Given the description of an element on the screen output the (x, y) to click on. 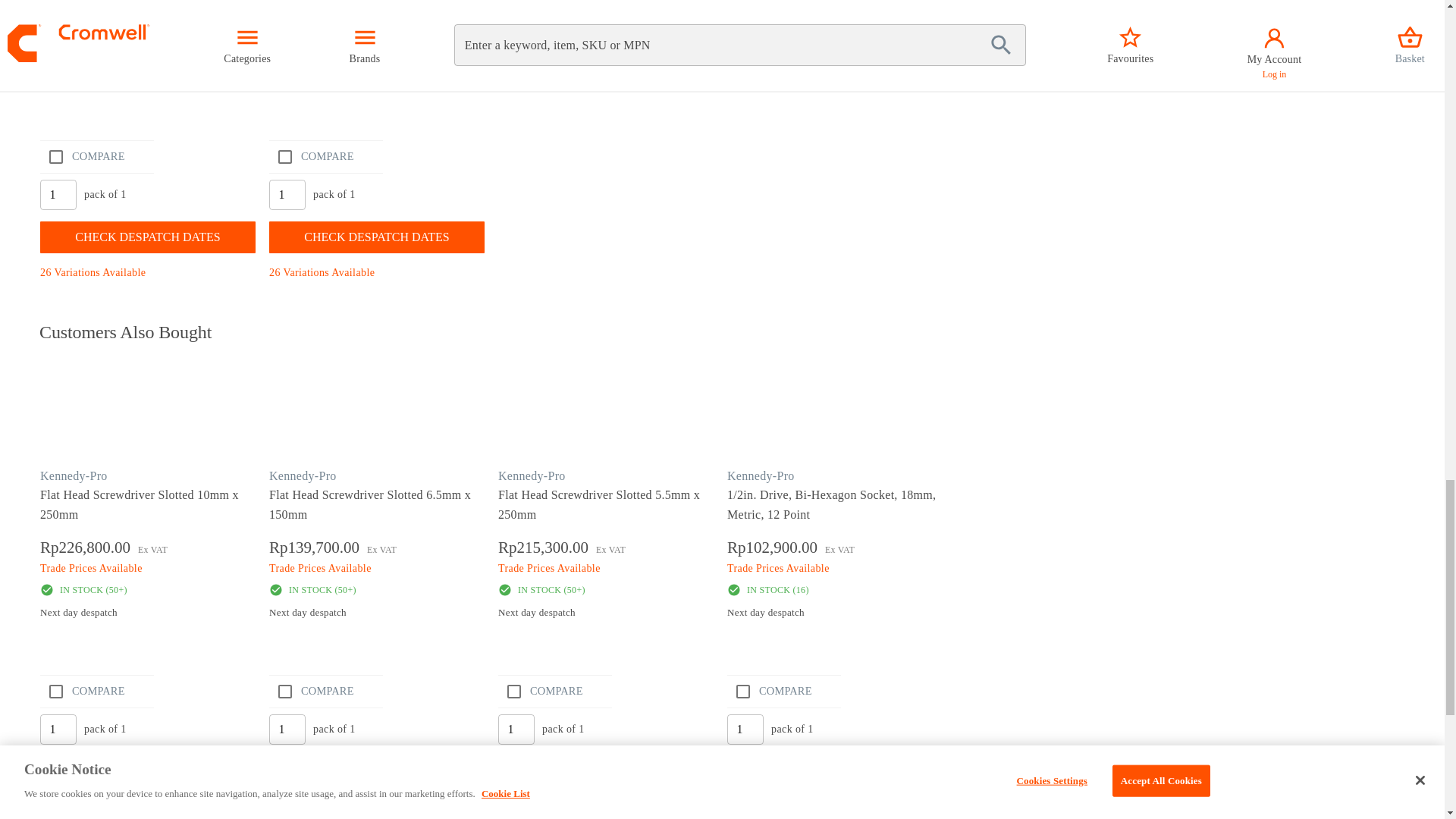
Flat Head Screwdriver Slotted 5.5mm x 250mm (608, 410)
CHECK DESPATCH DATES (148, 237)
1 (58, 194)
View Flat Head Screwdriver Slotted 6.5mm x 150mm (377, 504)
View Flat Head Screwdriver Slotted 10mm x 250mm (151, 410)
View Flat Head Screwdriver Slotted 10mm x 250mm (148, 504)
View Flat Head Screwdriver Slotted 5.5mm x 250mm (606, 504)
1 (287, 194)
Trade Prices Available (320, 33)
1 (58, 729)
1 (744, 729)
1 (515, 729)
26 Variations Available (321, 272)
CHECK DESPATCH DATES (376, 237)
26 Variations Available (92, 272)
